Given the description of an element on the screen output the (x, y) to click on. 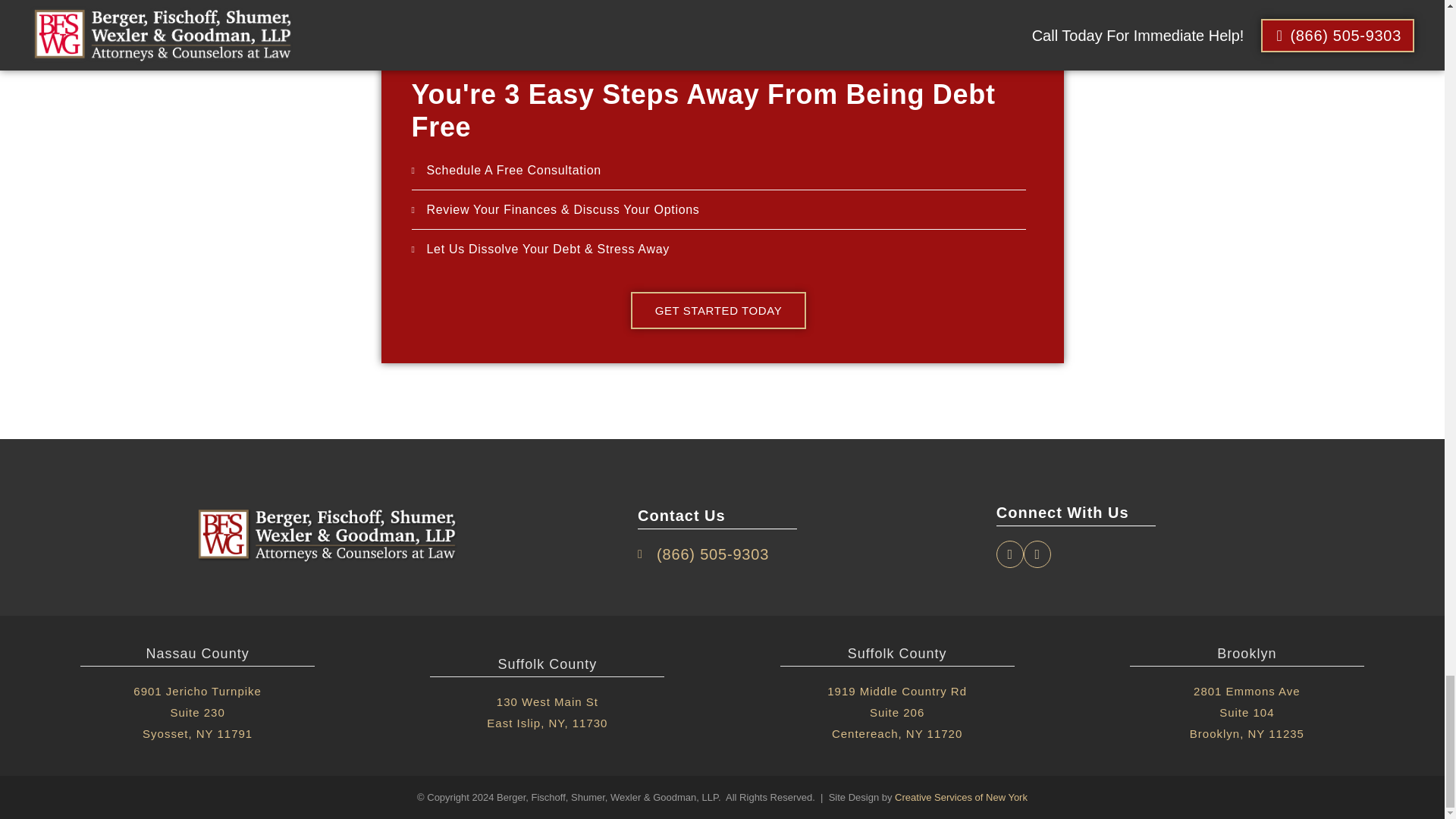
GET STARTED TODAY (718, 310)
